Given the description of an element on the screen output the (x, y) to click on. 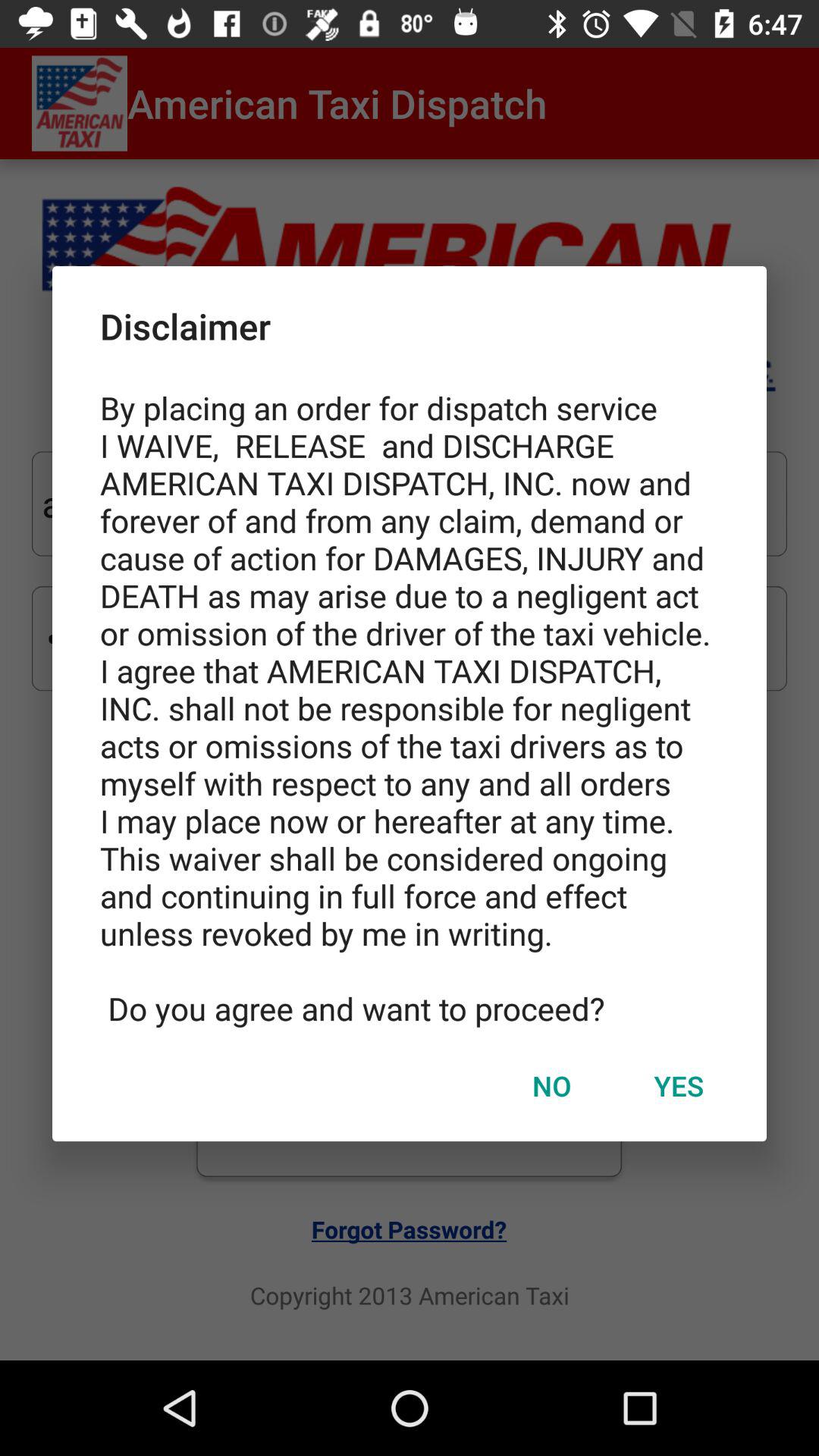
tap icon below by placing an (678, 1085)
